Given the description of an element on the screen output the (x, y) to click on. 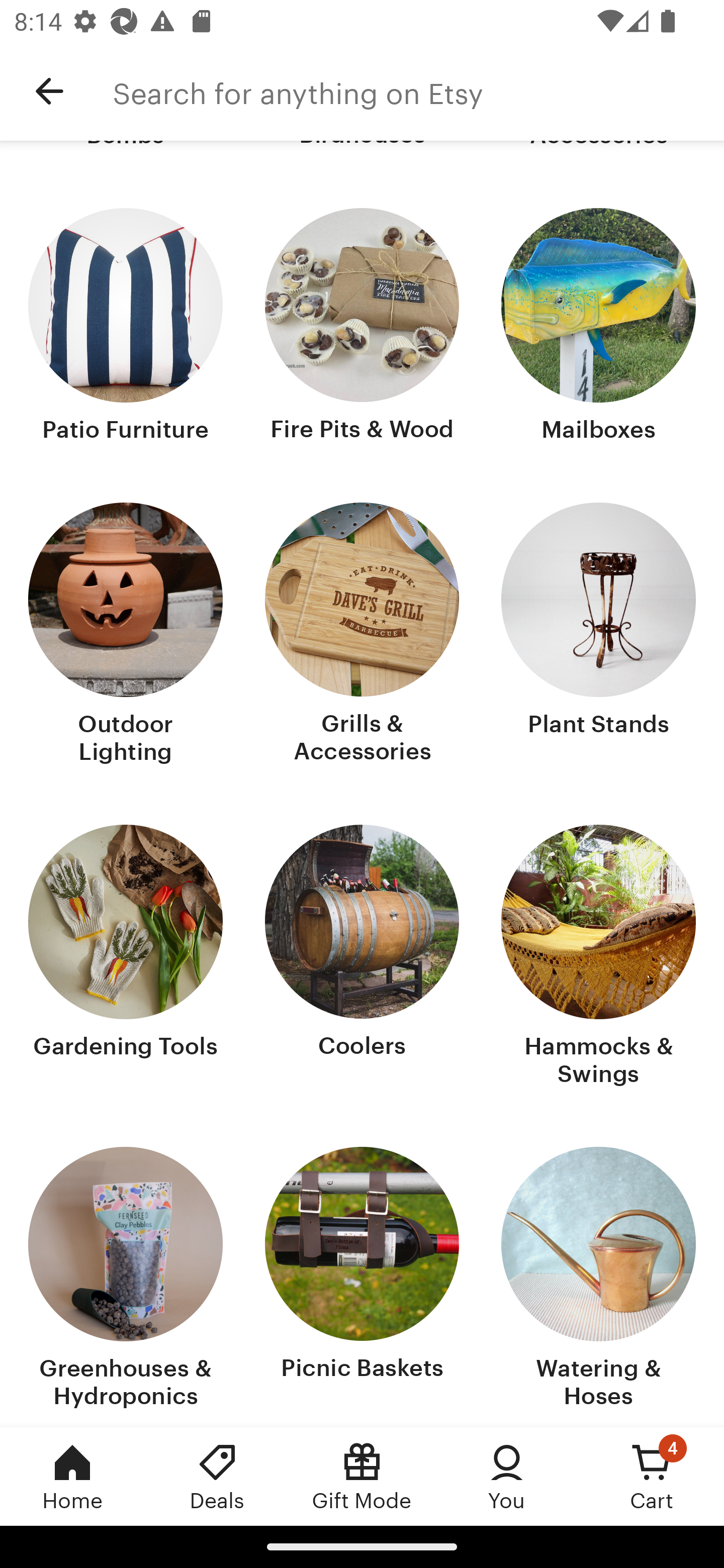
Navigate up (49, 91)
Search for anything on Etsy (418, 91)
Patio Furniture (125, 327)
Fire Pits & Wood (361, 327)
Mailboxes (598, 327)
Outdoor Lighting (125, 635)
Grills & Accessories (361, 635)
Plant Stands (598, 635)
Gardening Tools (125, 957)
Coolers (361, 957)
Hammocks & Swings (598, 957)
Greenhouses & Hydroponics (125, 1279)
Picnic Baskets (361, 1279)
Watering & Hoses (598, 1279)
Deals (216, 1475)
Gift Mode (361, 1475)
You (506, 1475)
Cart, 4 new notifications Cart (651, 1475)
